Given the description of an element on the screen output the (x, y) to click on. 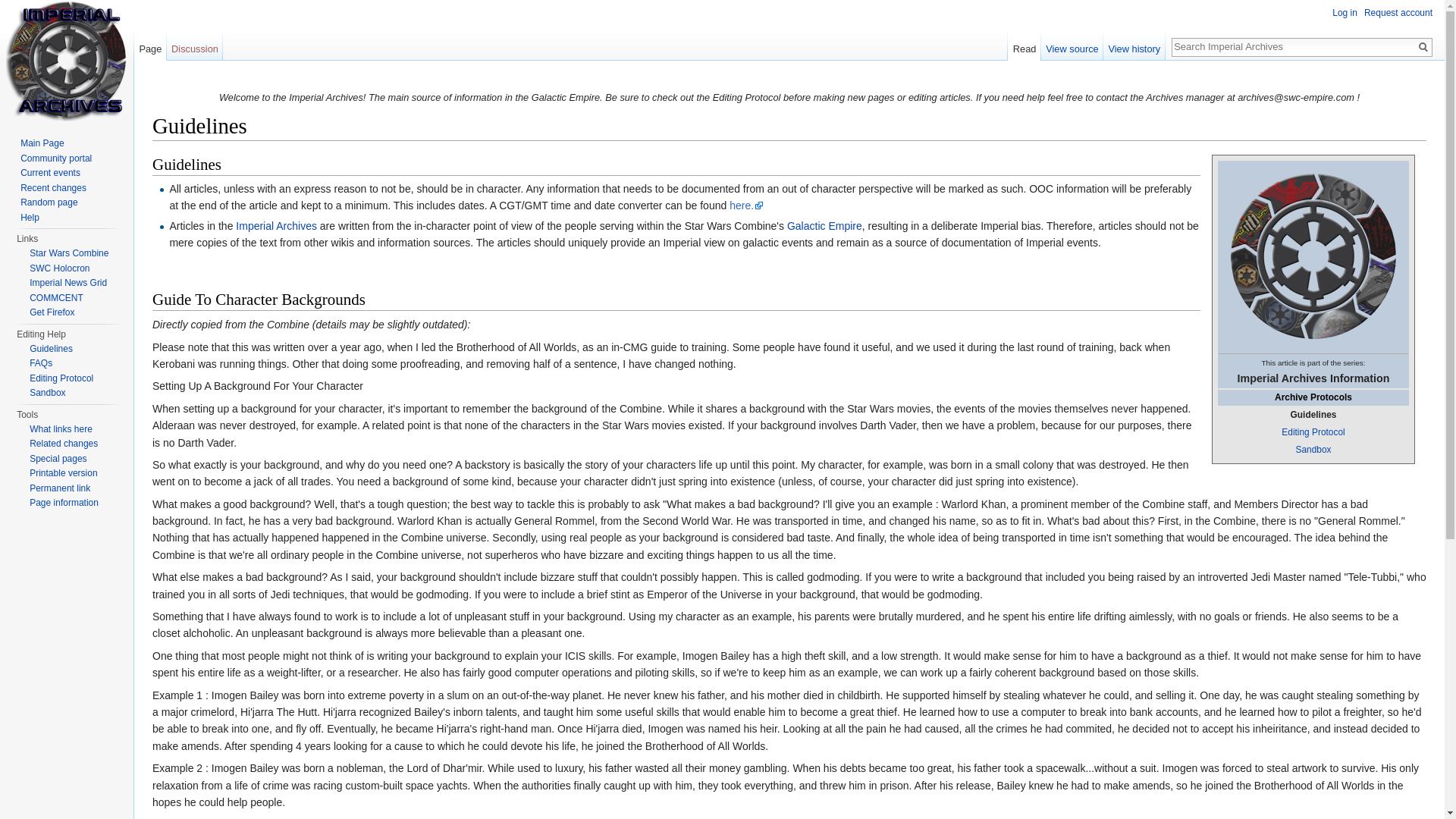
Galactic Empire (824, 225)
Help (29, 217)
Read (1024, 45)
Discussion (195, 45)
Request account (1398, 12)
Guidelines (50, 347)
Editing Protocol (1312, 431)
Community portal (55, 158)
Go (1423, 46)
Star Wars Combine (68, 253)
